Given the description of an element on the screen output the (x, y) to click on. 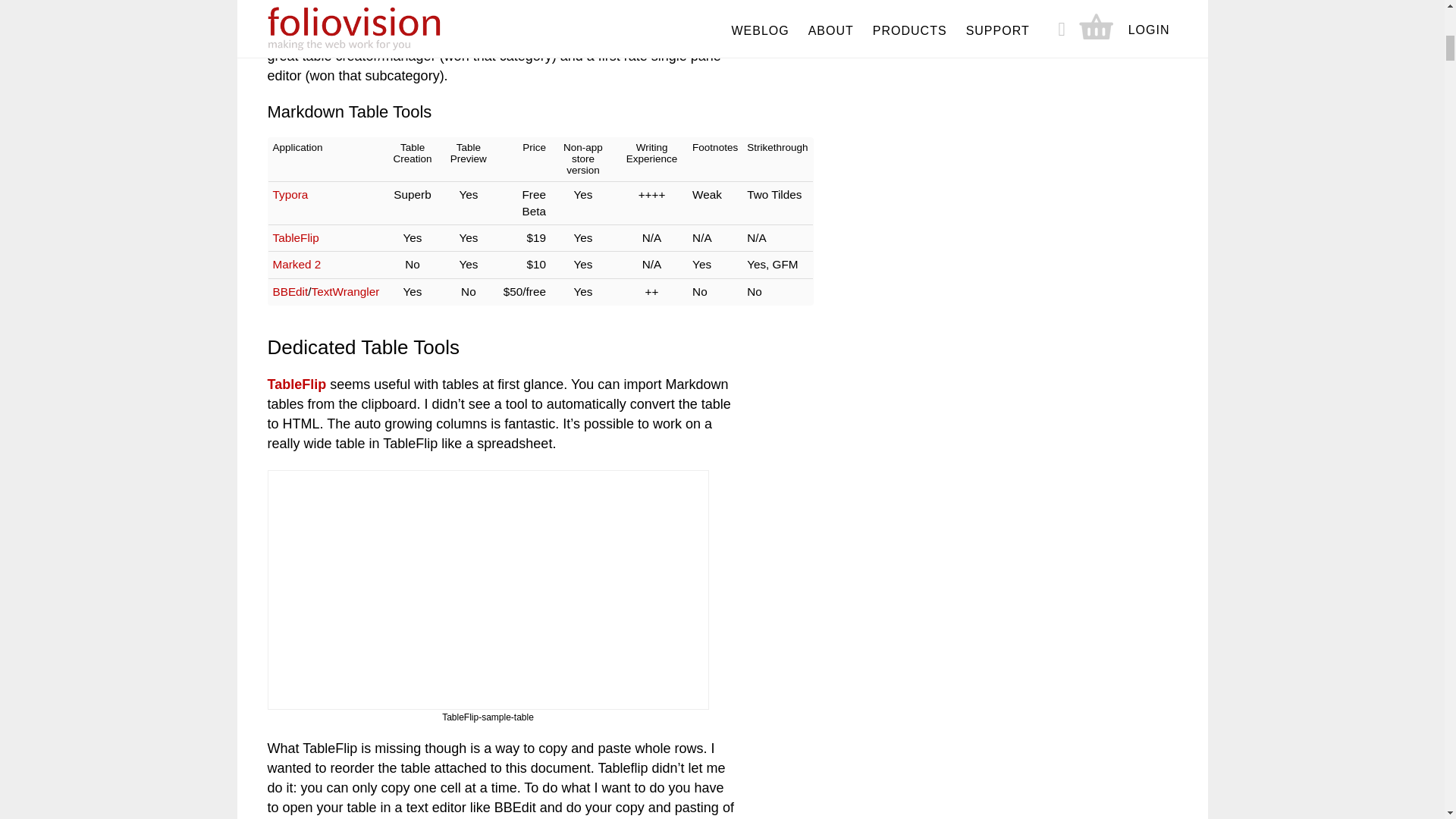
Typora (290, 194)
TableFlip (296, 384)
TableFlip (295, 237)
Marked 2 (297, 264)
TextWrangler (345, 291)
BBEdit (290, 291)
